Given the description of an element on the screen output the (x, y) to click on. 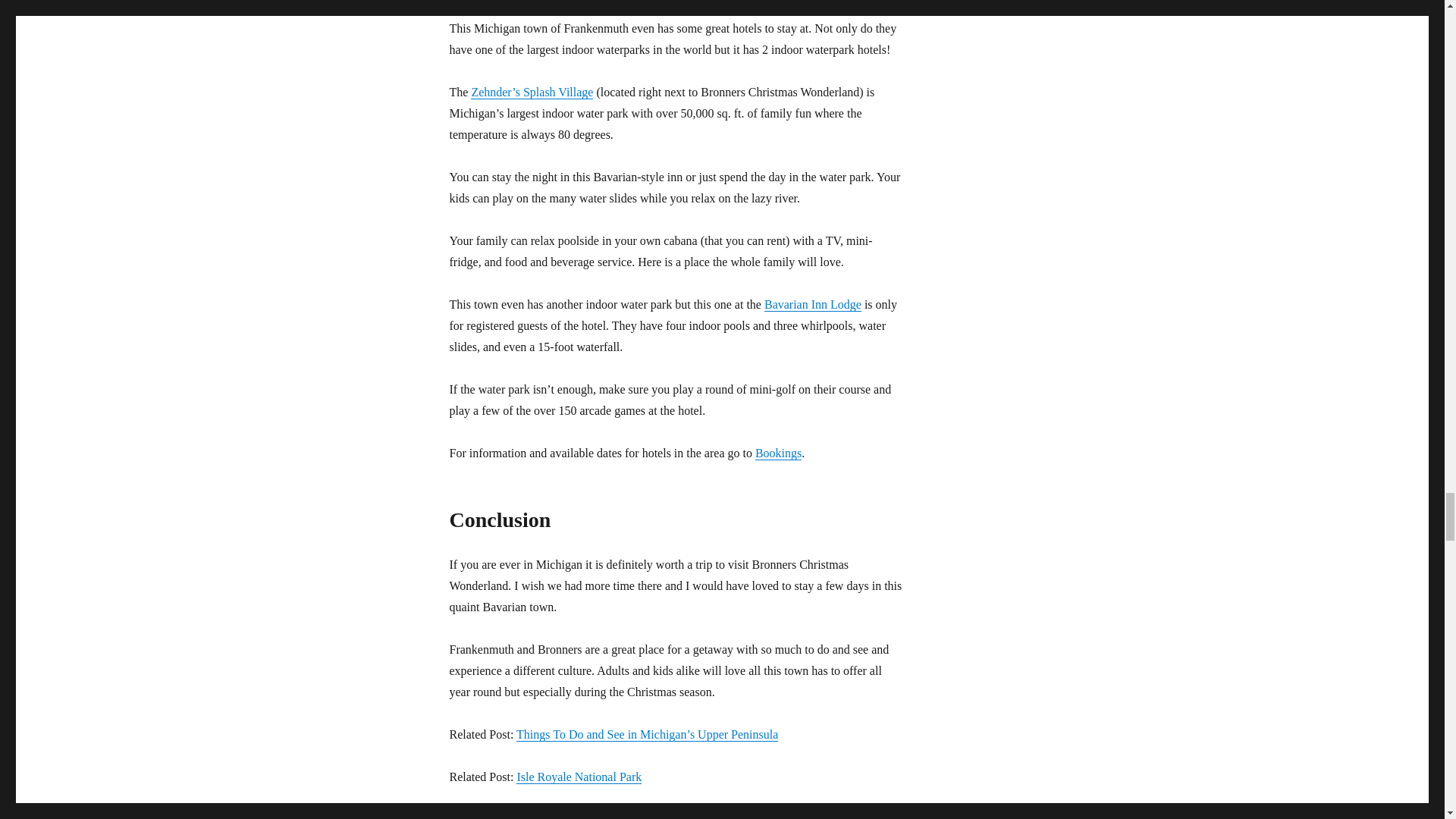
Bavarian Inn Lodge (812, 304)
Bookings (778, 452)
Isle Royale National Park (579, 776)
